Given the description of an element on the screen output the (x, y) to click on. 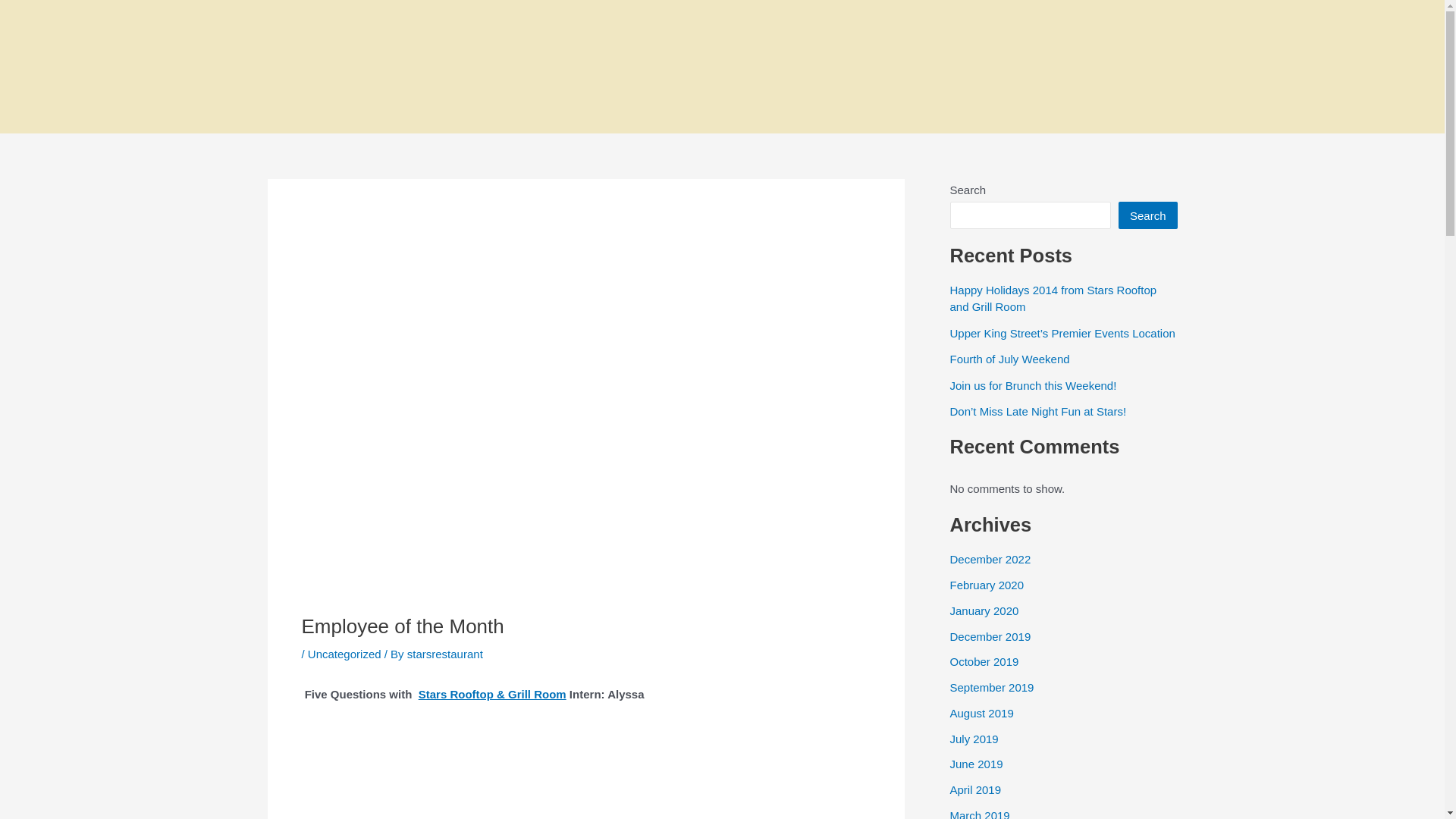
Fourth of July Weekend (1008, 358)
December 2022 (989, 558)
February 2020 (986, 584)
Uncategorized (344, 653)
Search (1147, 215)
July 2019 (973, 738)
August 2019 (981, 712)
June 2019 (976, 763)
starsrestaurant (445, 653)
Happy Holidays 2014 from Stars Rooftop and Grill Room (1052, 298)
12 (1131, 67)
December 2019 (989, 635)
January 2020 (983, 610)
March 2019 (979, 814)
Join us for Brunch this Weekend! (1032, 385)
